Given the description of an element on the screen output the (x, y) to click on. 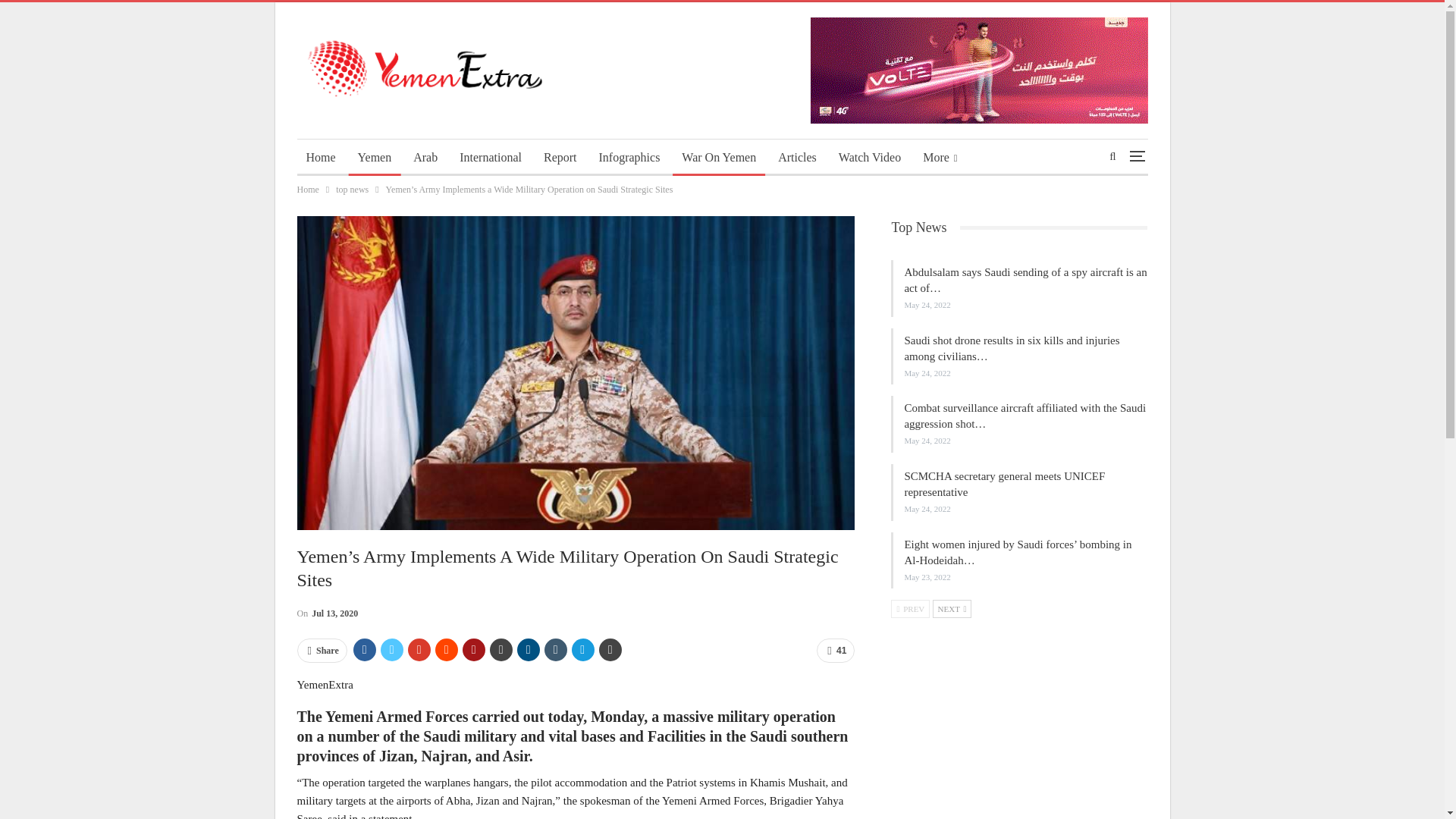
Articles (796, 157)
Watch Video (869, 157)
More (940, 157)
Infographics (629, 157)
International (490, 157)
Arab (425, 157)
top news (352, 189)
Home (321, 157)
Yemen (375, 157)
Previous (910, 608)
